Given the description of an element on the screen output the (x, y) to click on. 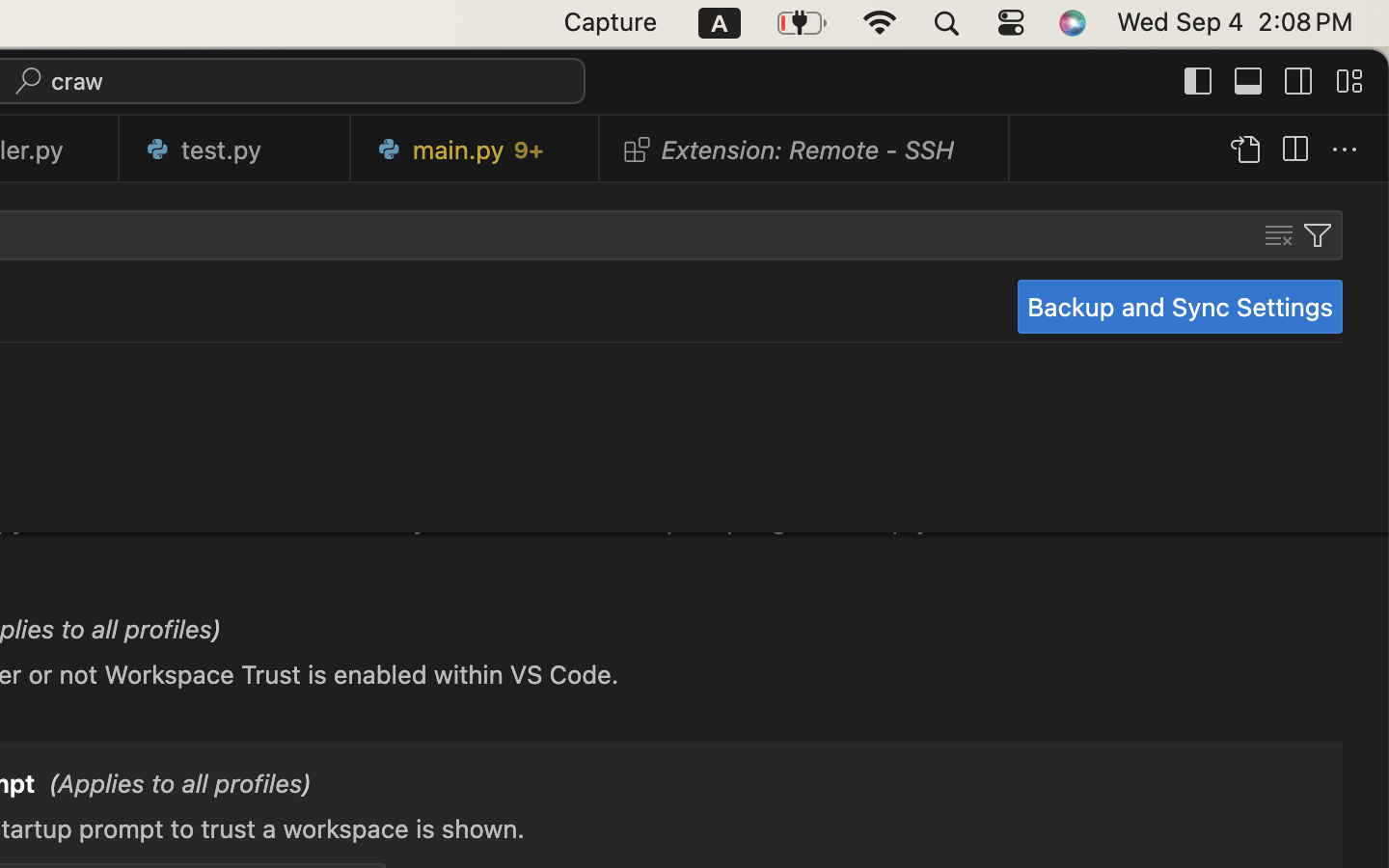
0 test.py   Element type: AXRadioButton (235, 149)
 Element type: AXCheckBox (1198, 80)
 Element type: AXButton (1294, 150)
 Element type: AXStaticText (1344, 150)
0 Extension: Remote - SSH   Element type: AXRadioButton (804, 149)
